Given the description of an element on the screen output the (x, y) to click on. 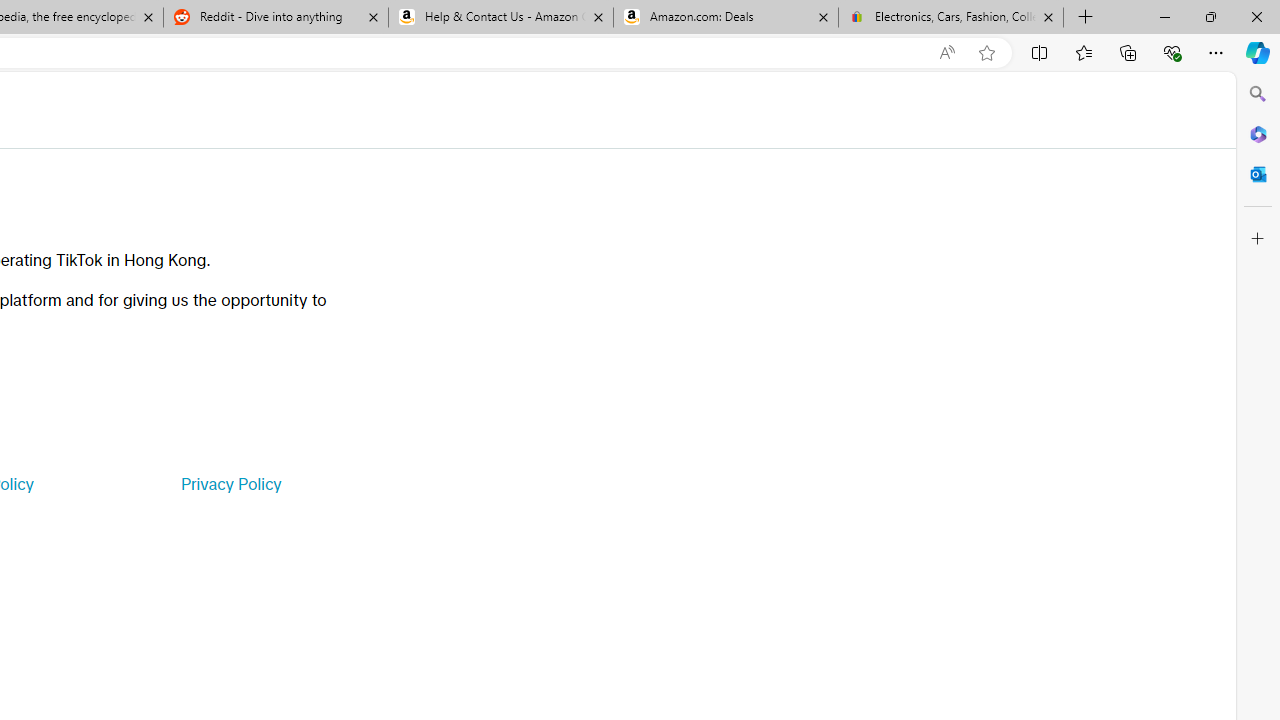
Amazon.com: Deals (726, 17)
